Given the description of an element on the screen output the (x, y) to click on. 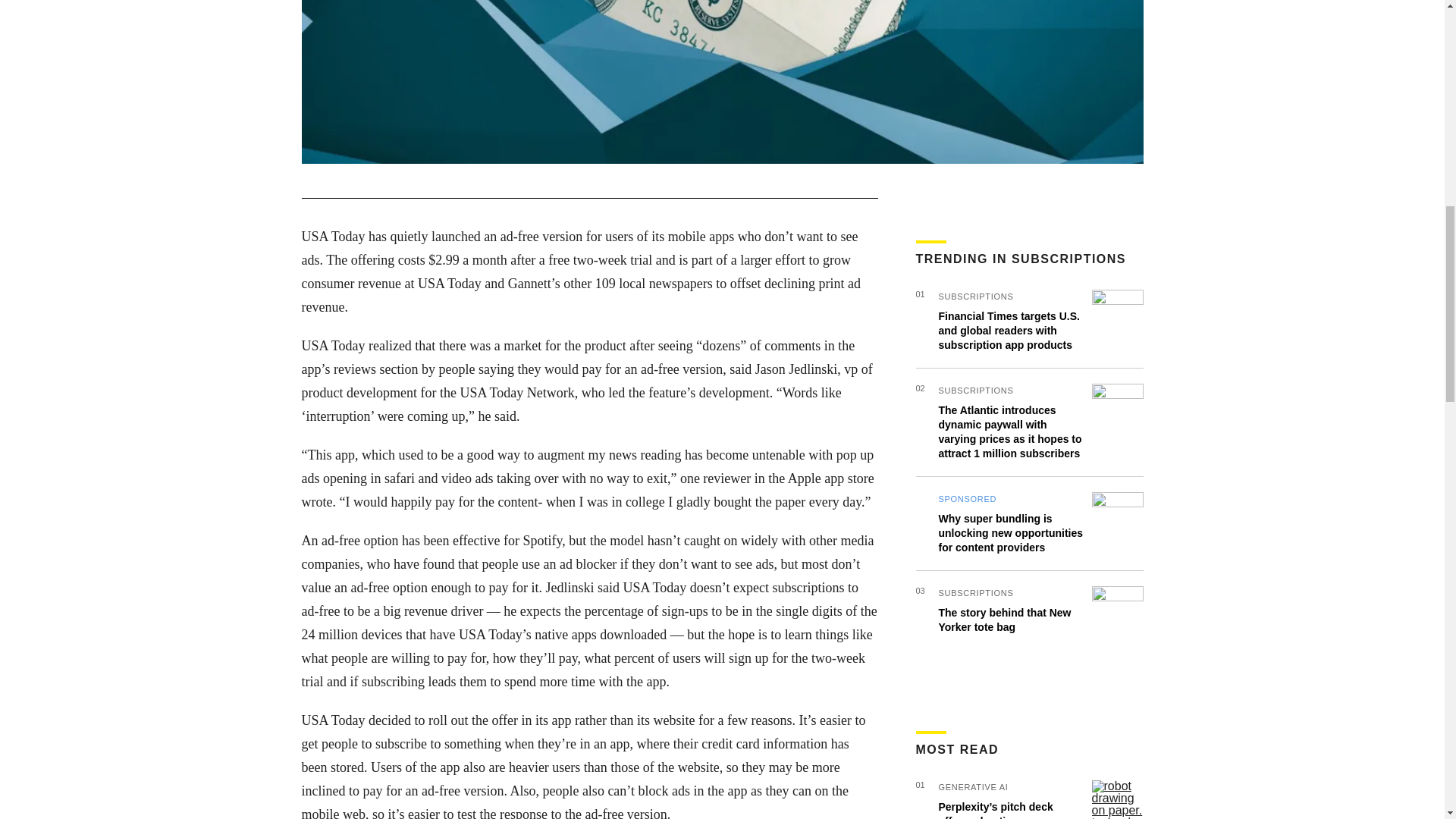
The story behind that New Yorker tote bag (1005, 619)
